Given the description of an element on the screen output the (x, y) to click on. 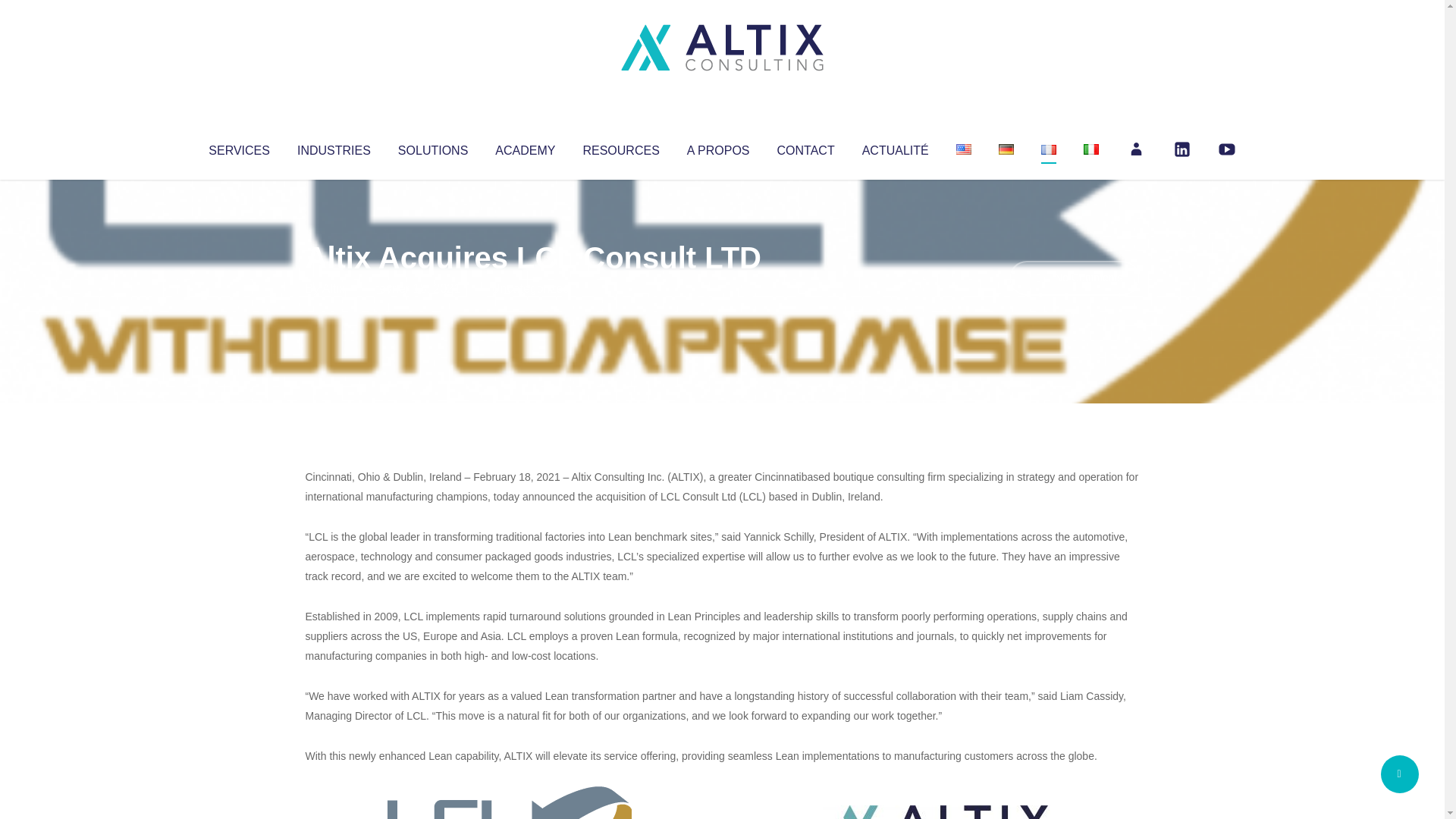
SERVICES (238, 146)
INDUSTRIES (334, 146)
No Comments (1073, 278)
SOLUTIONS (432, 146)
Altix (333, 287)
Articles par Altix (333, 287)
ACADEMY (524, 146)
RESOURCES (620, 146)
A PROPOS (718, 146)
Uncategorized (530, 287)
